Given the description of an element on the screen output the (x, y) to click on. 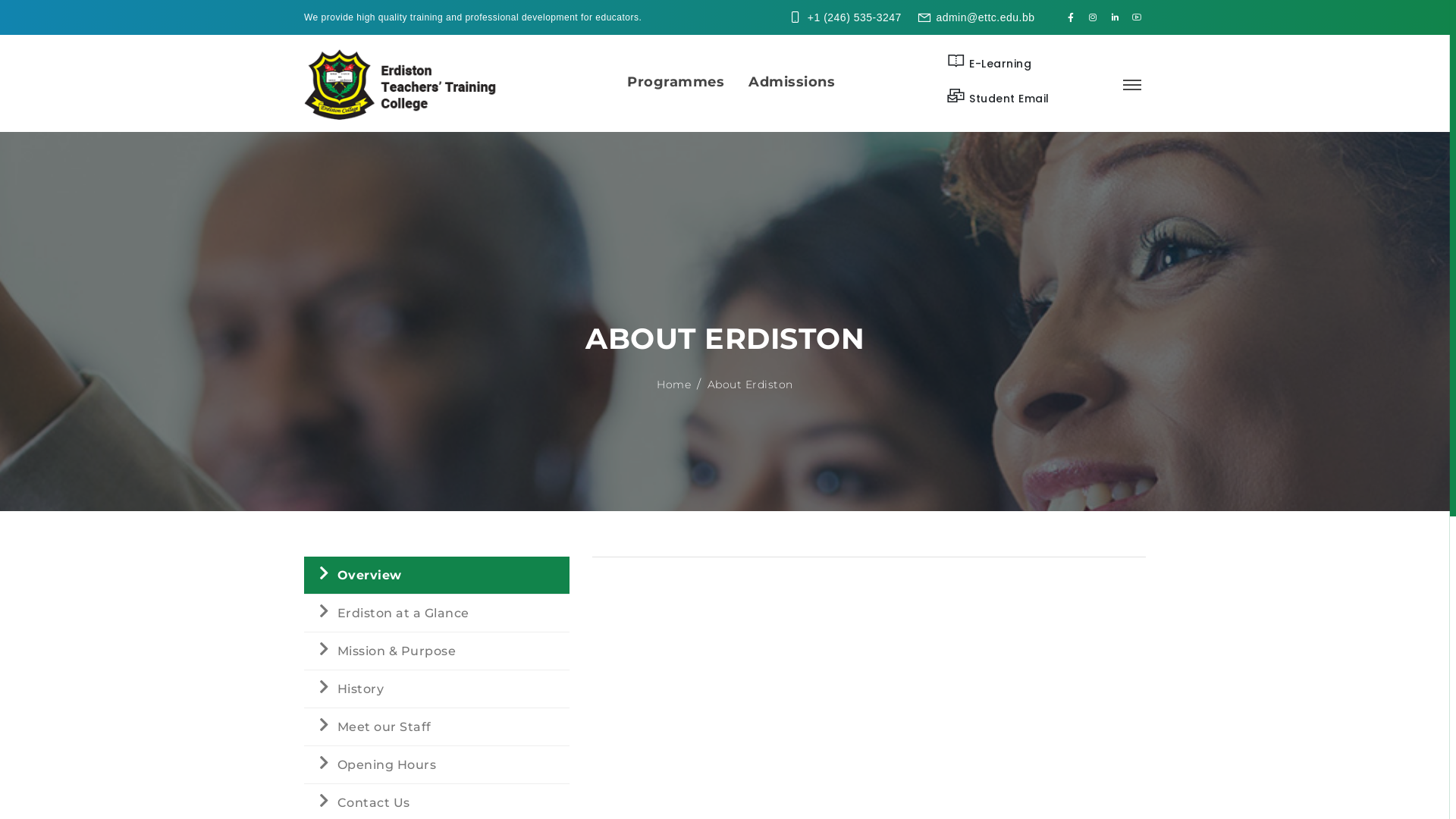
Meet our Staff Element type: text (436, 727)
Programmes Element type: text (675, 80)
Overview Element type: text (436, 575)
Student Email Element type: text (997, 96)
Opening Hours Element type: text (436, 765)
+1 (246) 535-3247 Element type: text (854, 17)
Admissions Element type: text (785, 80)
E-Learning Element type: text (988, 61)
admin@ettc.edu.bb Element type: text (984, 17)
About Erdiston Element type: text (750, 384)
Mission & Purpose Element type: text (436, 651)
Erdiston at a Glance Element type: text (436, 613)
History Element type: text (436, 689)
Home Element type: text (673, 384)
Logo Element type: hover (403, 83)
